Given the description of an element on the screen output the (x, y) to click on. 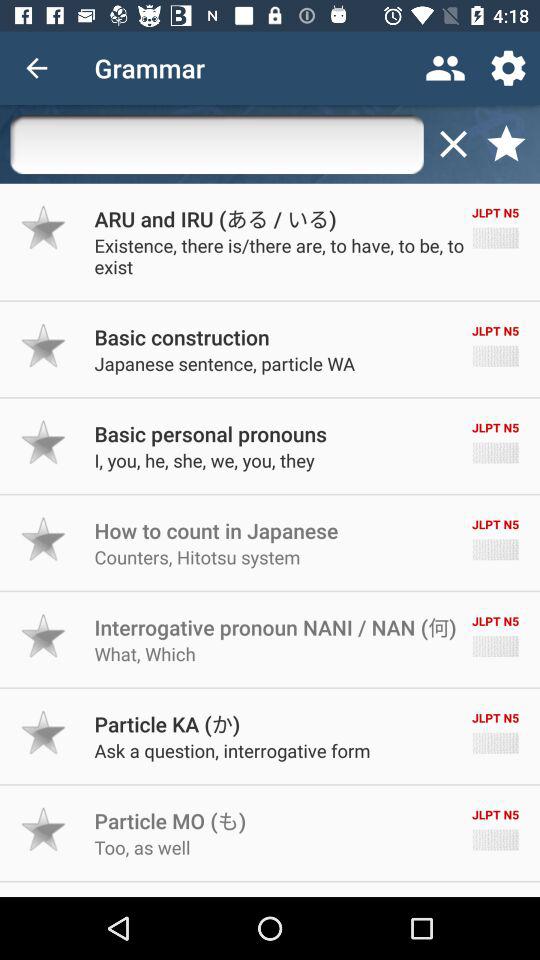
toggle search bar (216, 144)
